Given the description of an element on the screen output the (x, y) to click on. 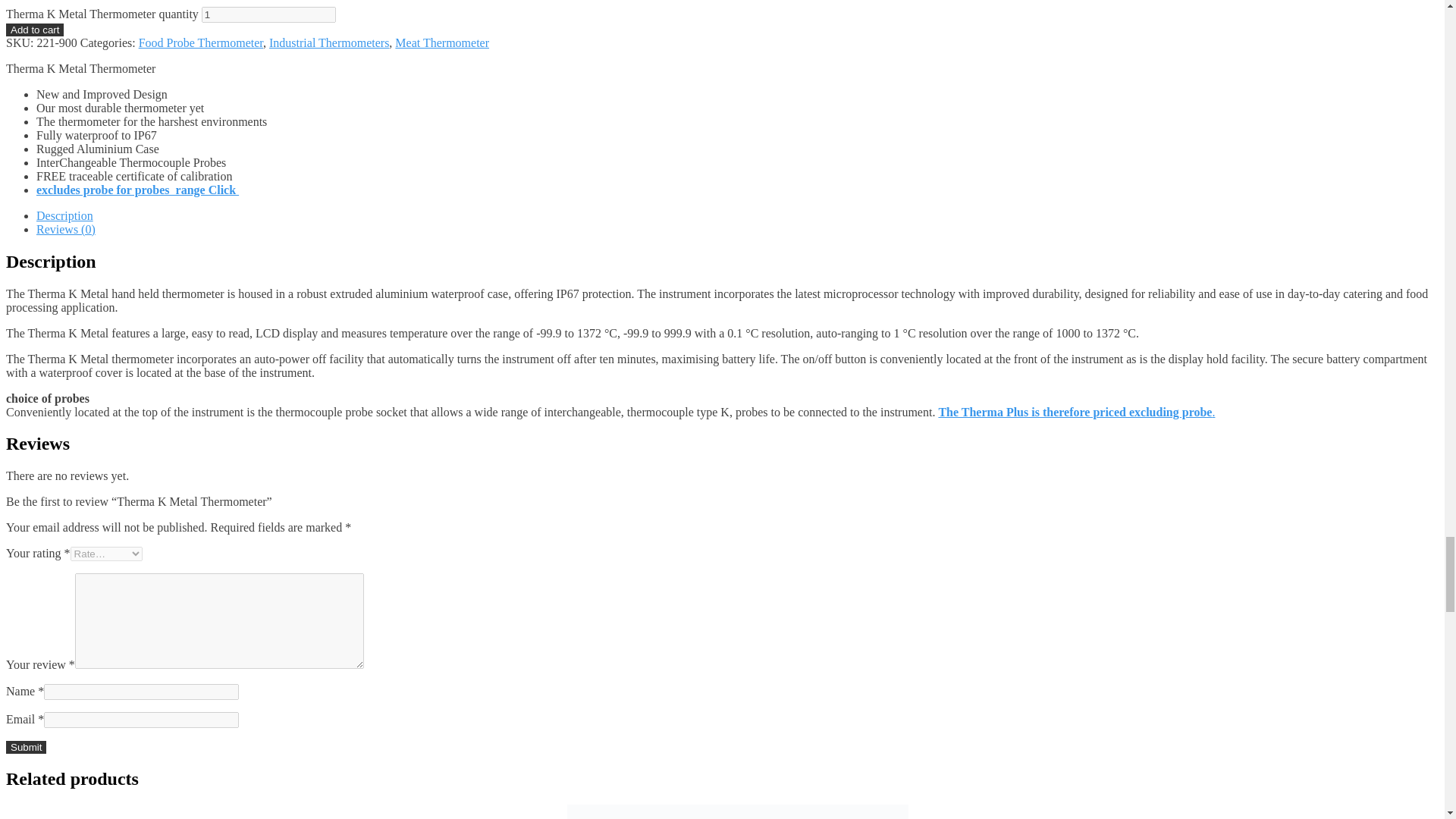
Submit (25, 747)
1 (269, 14)
